Given the description of an element on the screen output the (x, y) to click on. 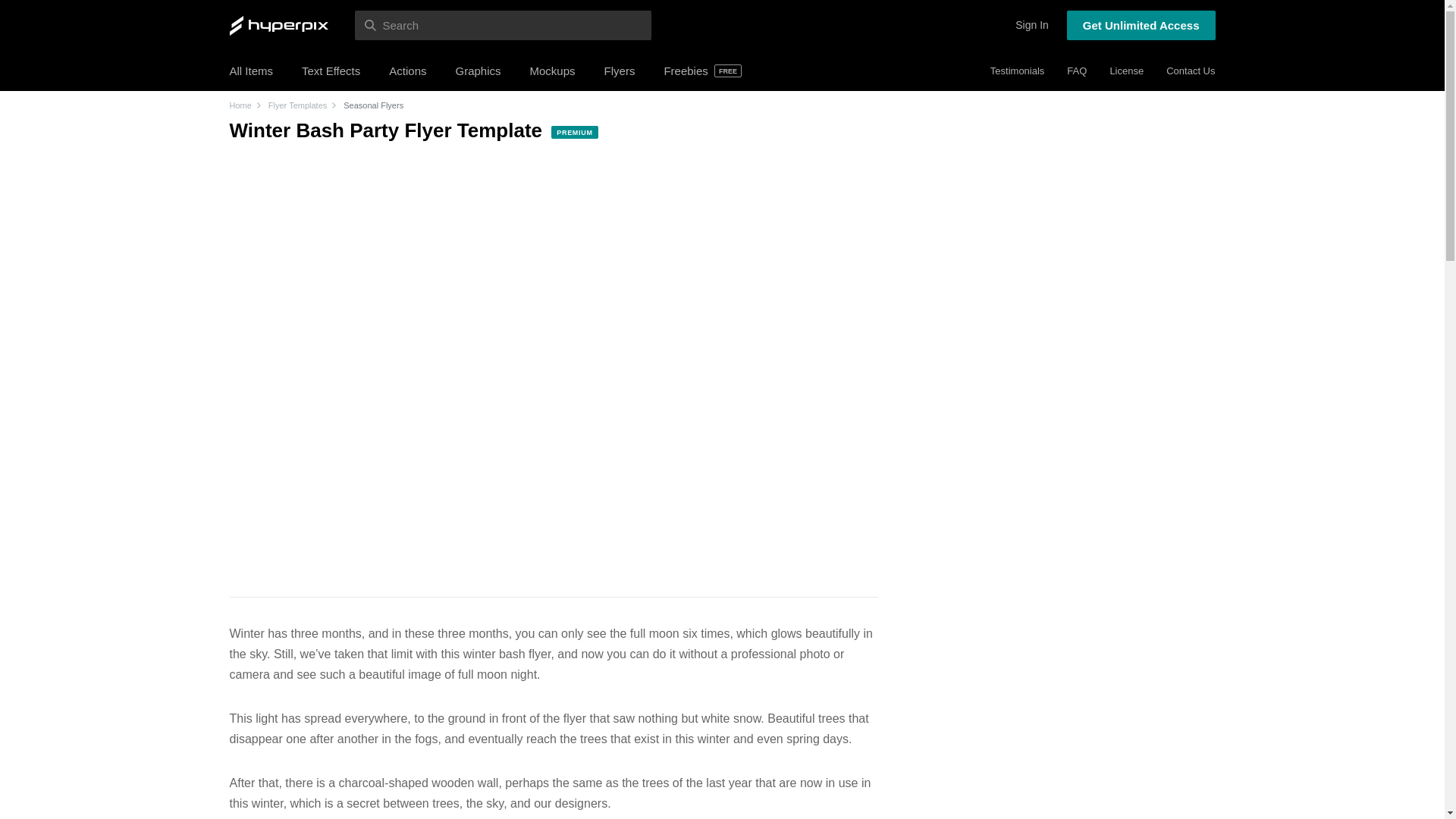
Mockups (552, 71)
Sign In (1032, 25)
Testimonials (1017, 71)
Freebies FREE (702, 71)
Contact Us (1190, 71)
Text Effects (330, 71)
Get Unlimited Access (1141, 25)
All Items (250, 71)
Actions (407, 71)
Graphics (477, 71)
